Given the description of an element on the screen output the (x, y) to click on. 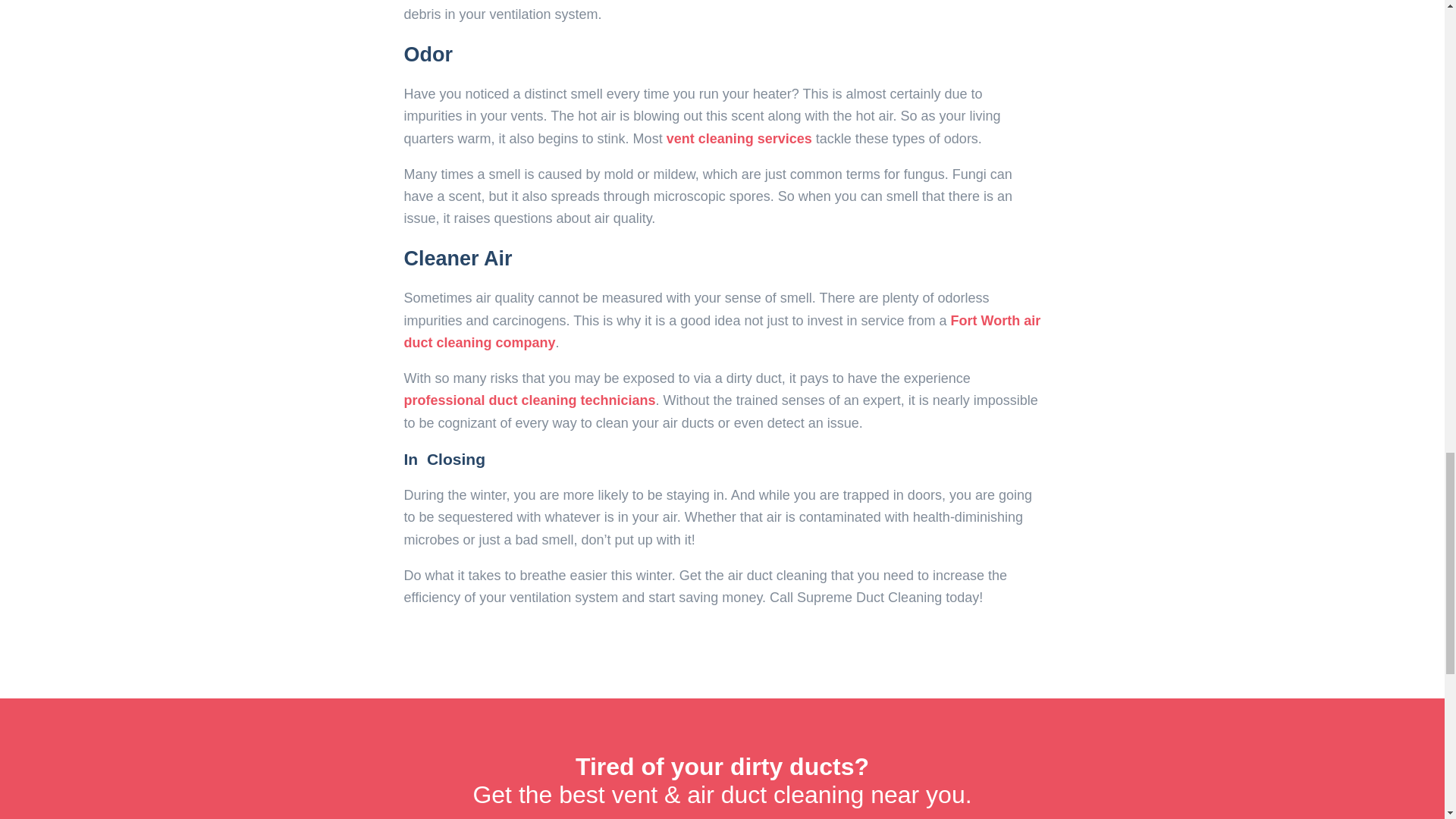
professional duct cleaning technicians (529, 400)
vent cleaning services (739, 138)
Fort Worth air duct cleaning company (722, 331)
